Given the description of an element on the screen output the (x, y) to click on. 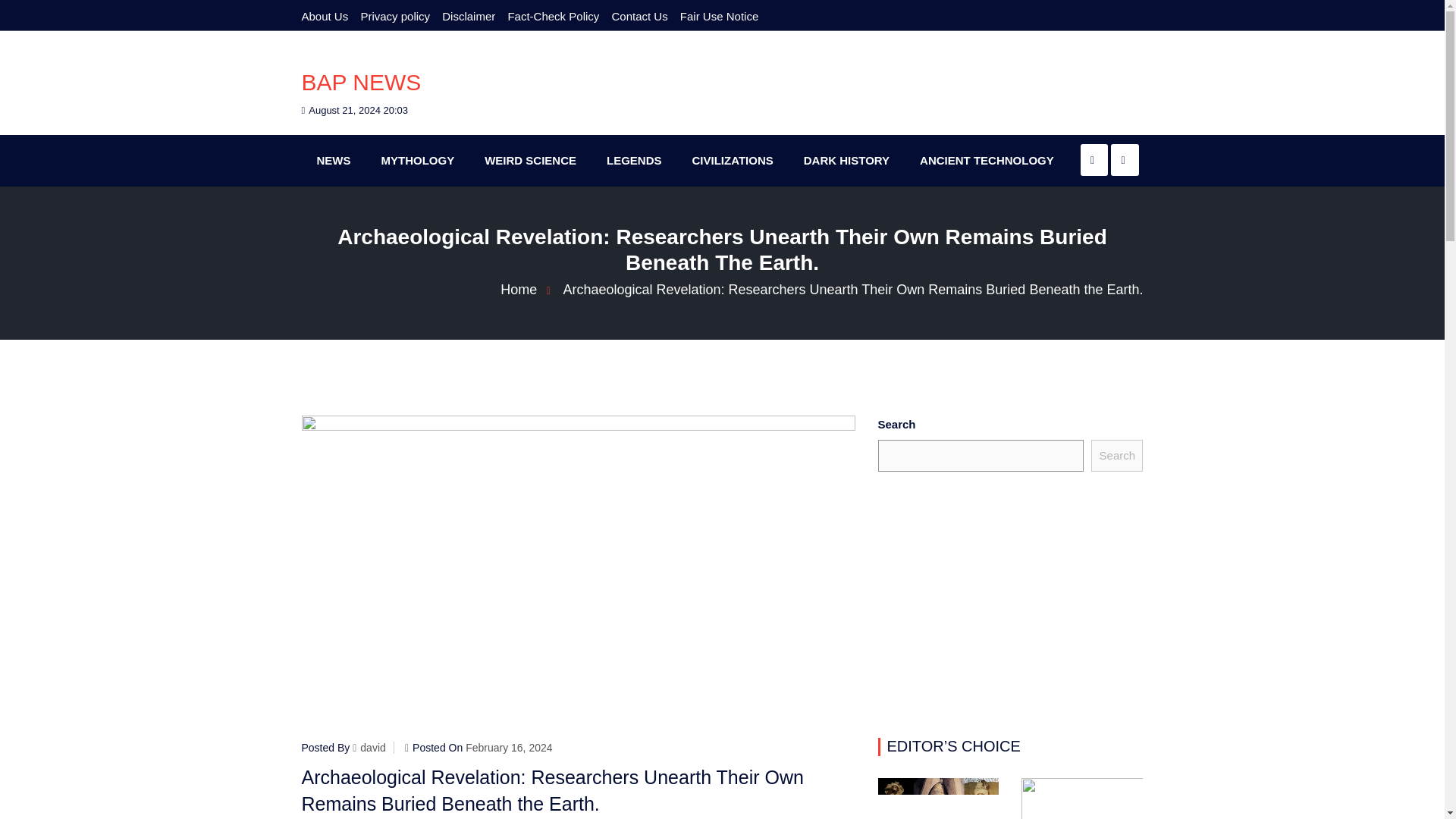
BAP NEWS (361, 82)
DARK HISTORY (846, 160)
Contact Us (638, 15)
NEWS (333, 160)
Privacy policy (394, 15)
Advertisement (1009, 603)
NEWS (333, 160)
Fair Use Notice (718, 15)
CIVILIZATIONS (733, 160)
